Given the description of an element on the screen output the (x, y) to click on. 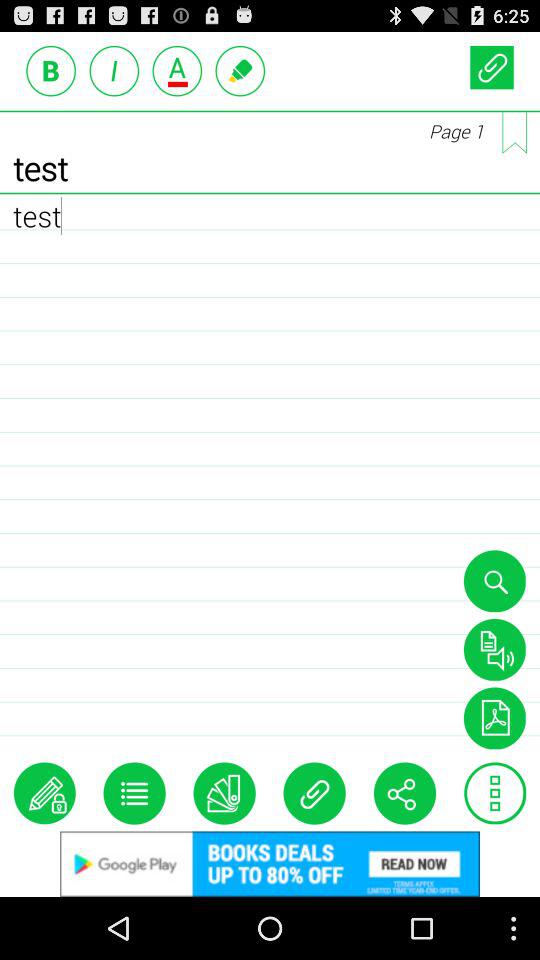
go to messenger (240, 70)
